Given the description of an element on the screen output the (x, y) to click on. 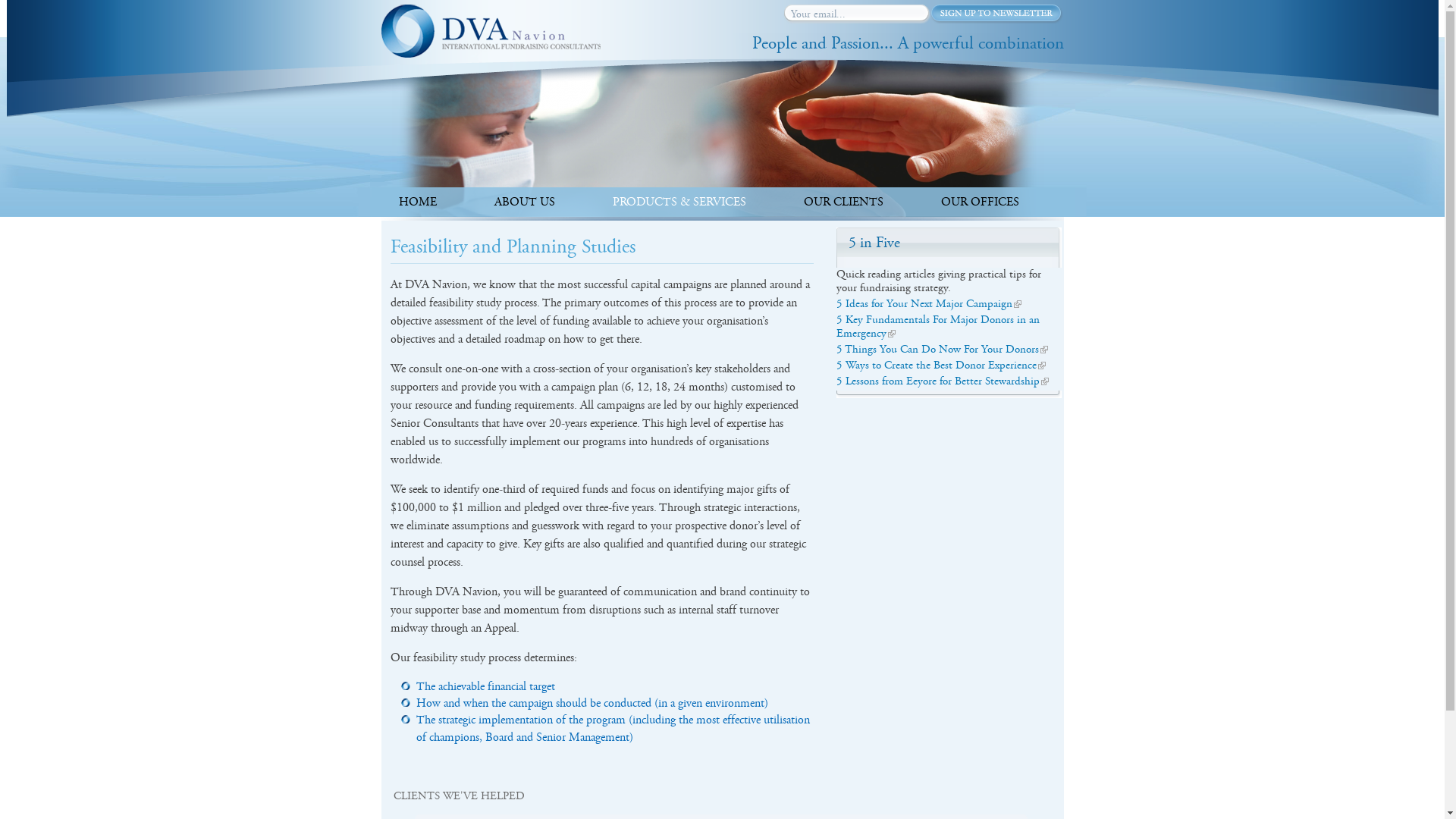
OUR OFFICES Element type: text (979, 201)
5 Key Fundamentals For Major Donors in an Emergency Element type: text (936, 326)
5 Things You Can Do Now For Your Donors Element type: text (936, 348)
5 Ways to Create the Best Donor Experience Element type: text (935, 364)
HOME Element type: text (417, 201)
OUR CLIENTS Element type: text (843, 201)
ABOUT US Element type: text (524, 201)
5 Lessons from Eeyore for Better Stewardship Element type: text (936, 380)
5 Ideas for Your Next Major Campaign Element type: text (923, 303)
PRODUCTS & SERVICES Element type: text (679, 201)
Submit Element type: text (995, 13)
